Given the description of an element on the screen output the (x, y) to click on. 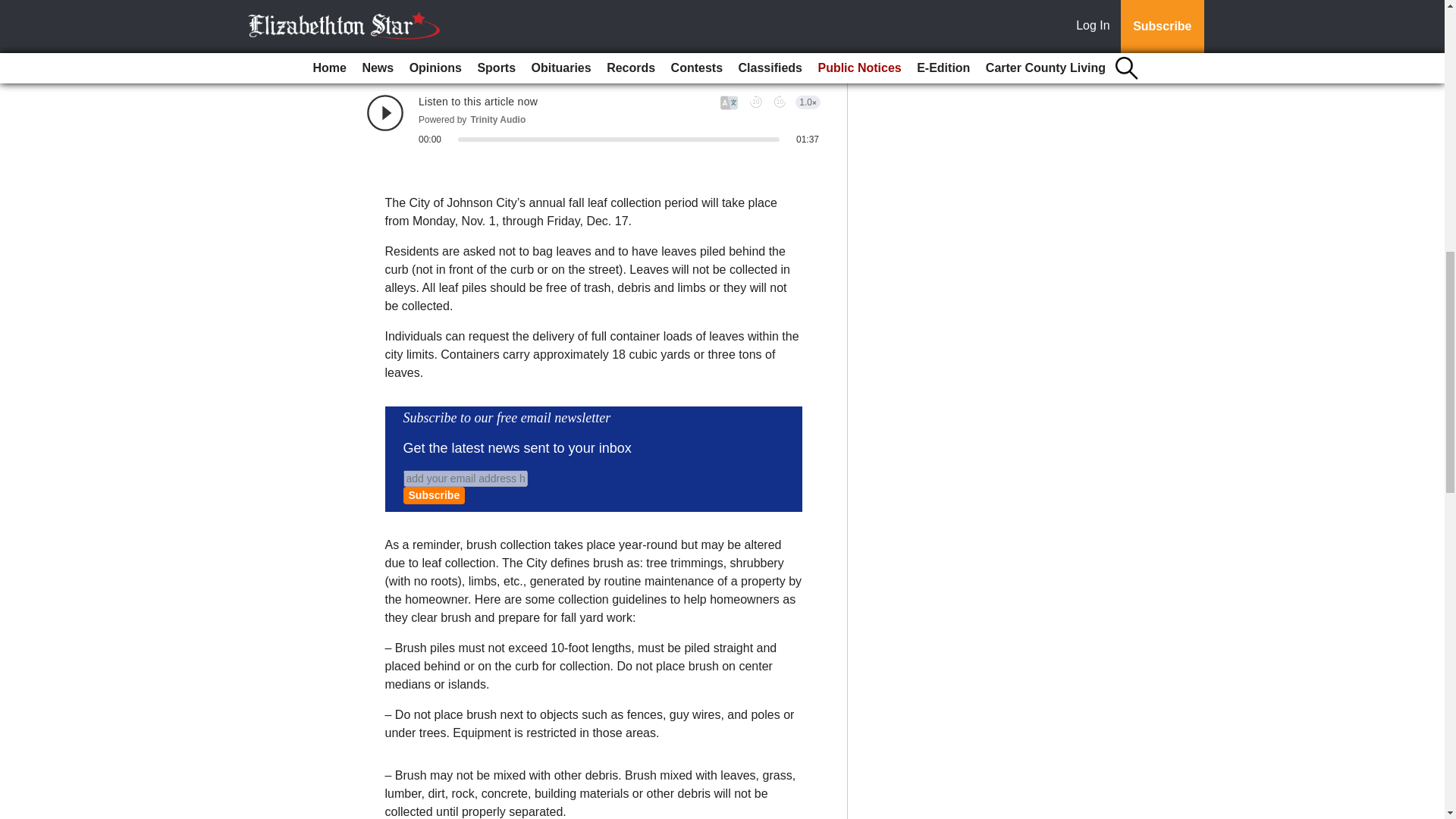
Subscribe (434, 495)
Subscribe (434, 495)
Trinity Audio Player (592, 119)
